Given the description of an element on the screen output the (x, y) to click on. 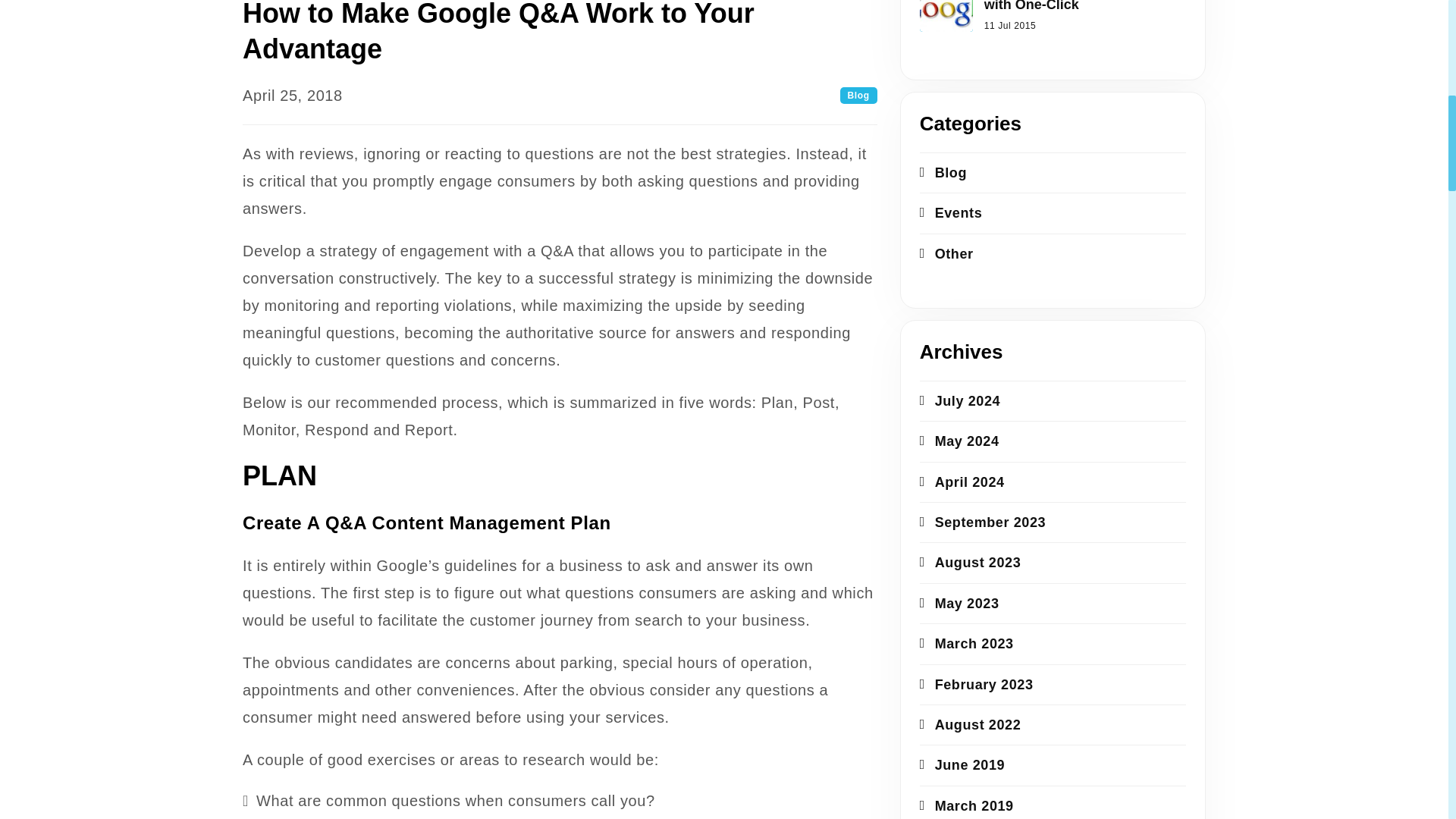
Blog (1053, 172)
May 2023 (1053, 603)
September 2023 (1053, 522)
July 2024 (1053, 400)
Other (1053, 253)
Events (1053, 212)
March 2023 (1053, 643)
August 2023 (1053, 562)
Google Business Reviews with One-Click (1079, 7)
April 2024 (1053, 481)
